Given the description of an element on the screen output the (x, y) to click on. 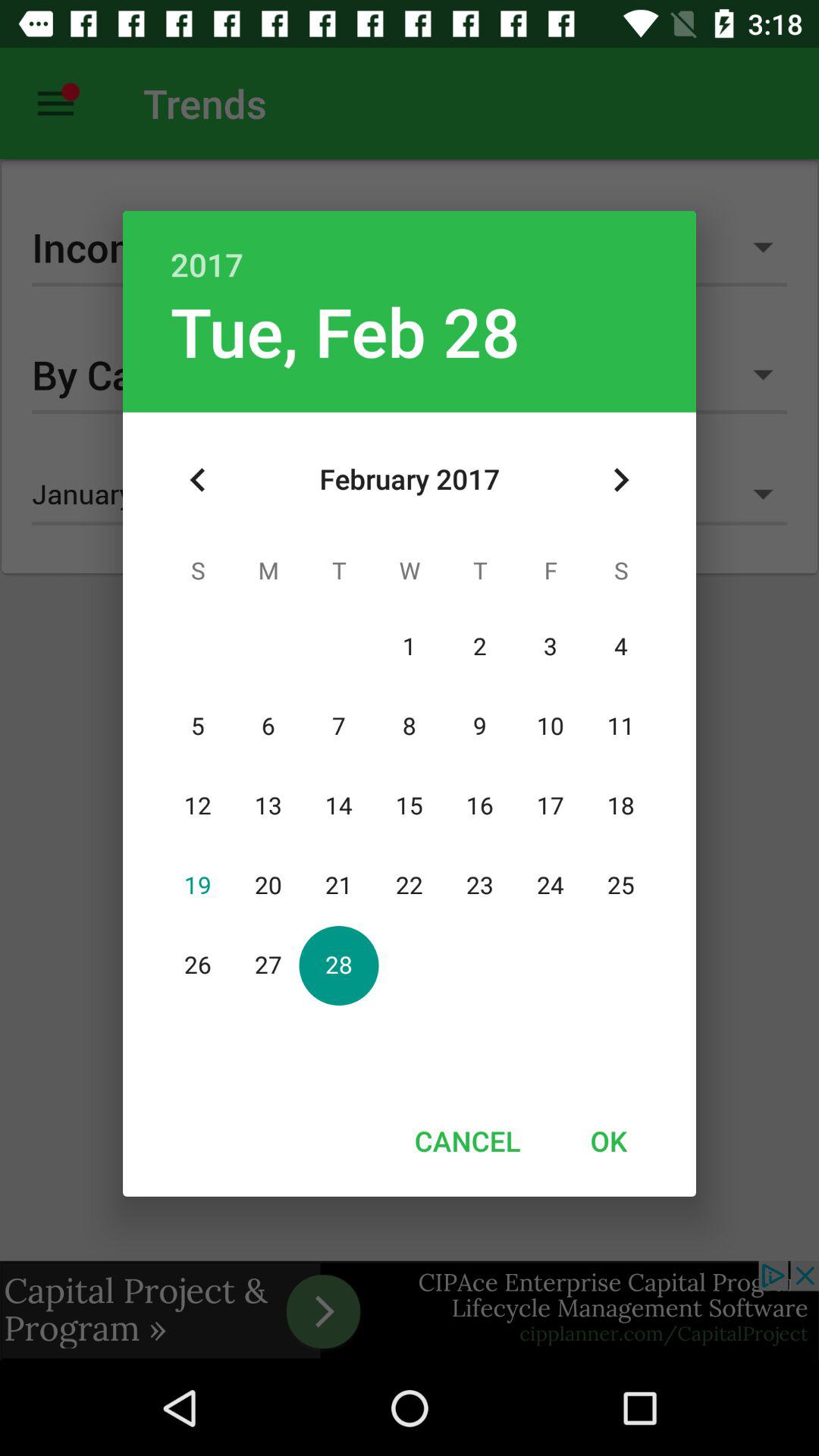
jump to 2017 item (409, 248)
